Given the description of an element on the screen output the (x, y) to click on. 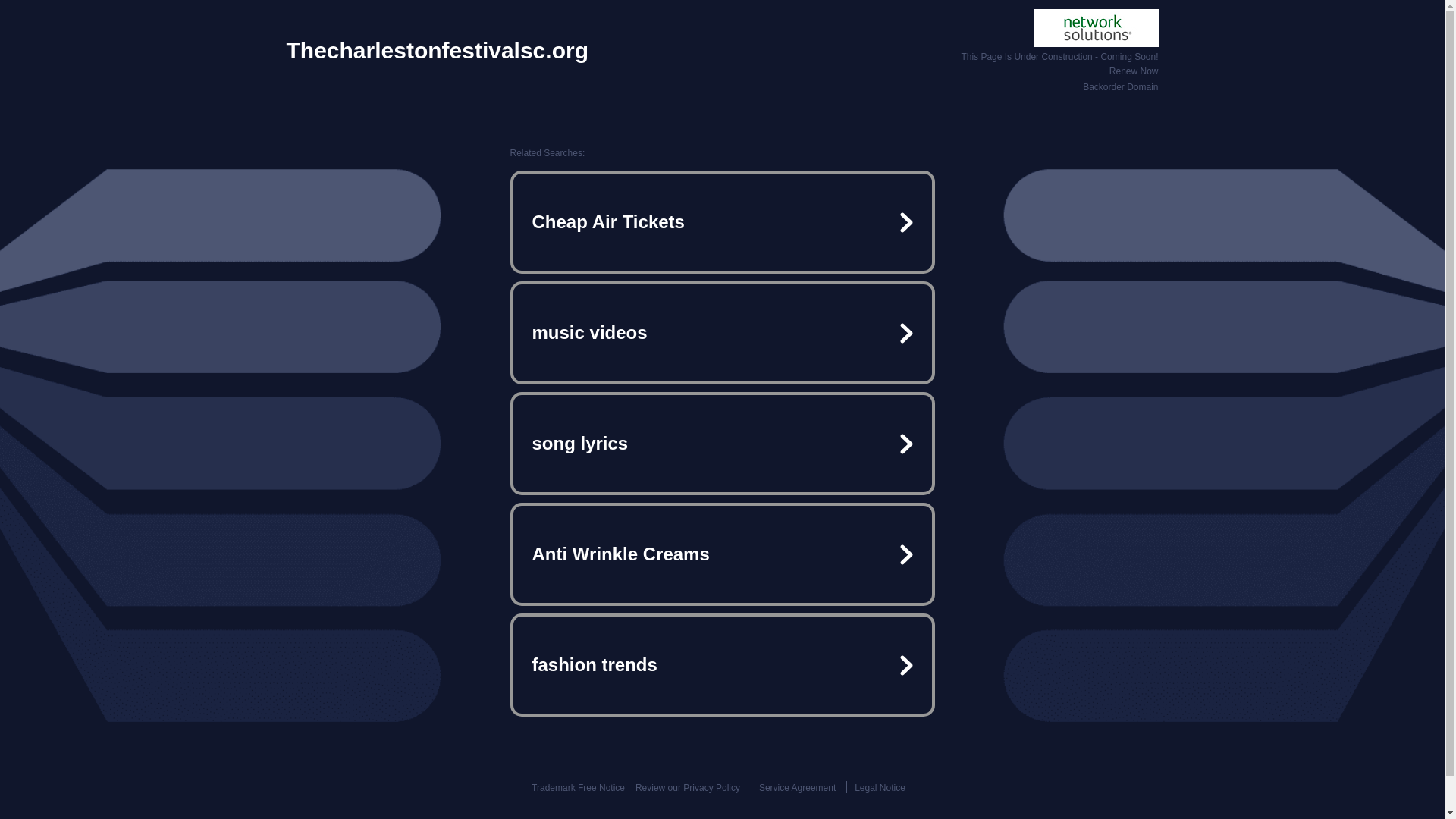
fashion trends (721, 664)
song lyrics (721, 443)
fashion trends (721, 664)
Service Agreement (796, 787)
Backorder Domain (1120, 87)
Anti Wrinkle Creams (721, 554)
music videos (721, 332)
Renew Now (1133, 71)
Thecharlestonfestivalsc.org (437, 50)
Cheap Air Tickets (721, 222)
